Given the description of an element on the screen output the (x, y) to click on. 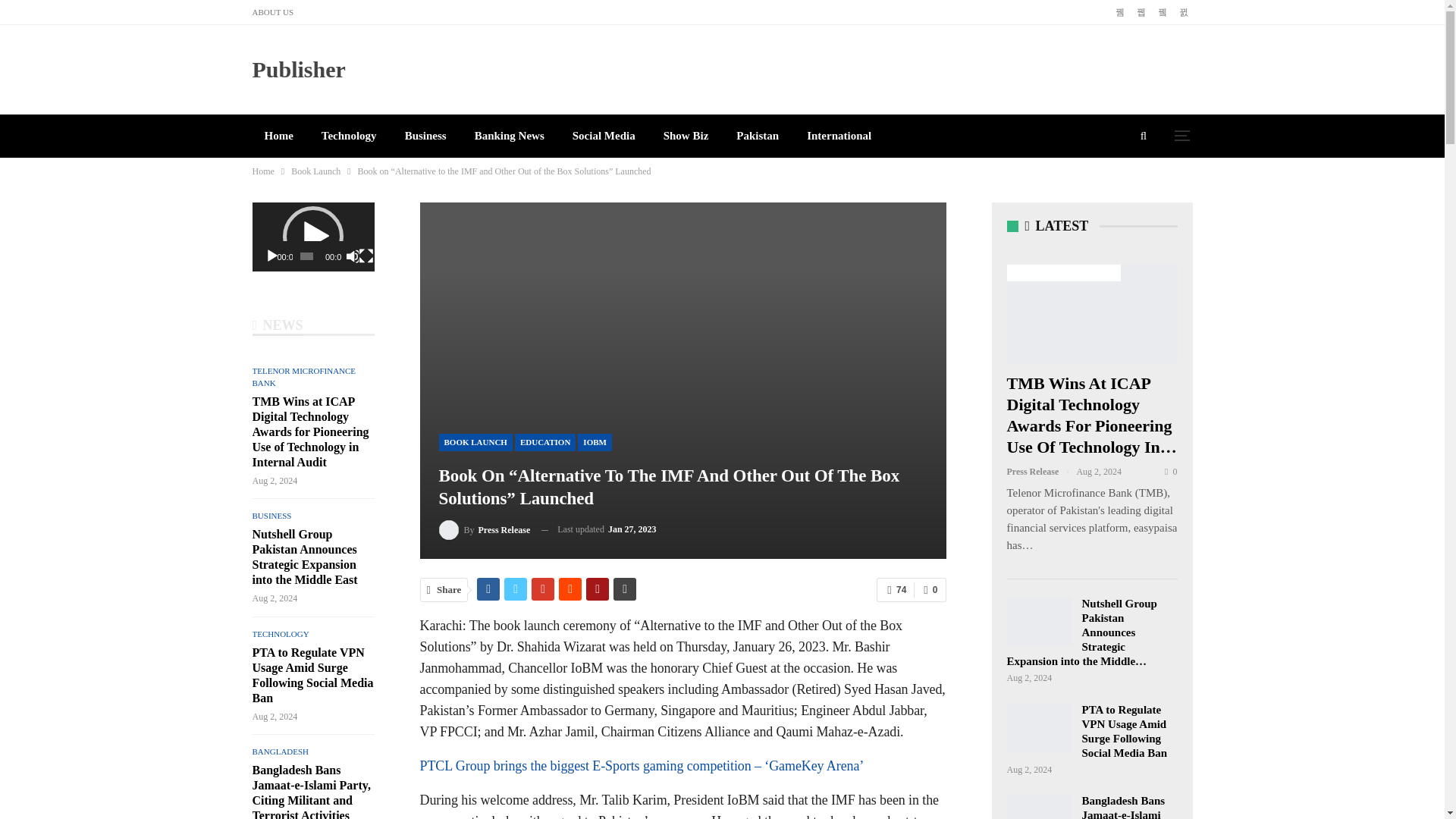
Pakistan (756, 136)
By Press Release (483, 529)
Social Media (603, 136)
EDUCATION (545, 442)
Banking News (509, 136)
Browse Author Articles (483, 529)
International (838, 136)
Publisher (298, 68)
IOBM (594, 442)
Show Biz (685, 136)
0 (929, 589)
Home (277, 136)
BOOK LAUNCH (475, 442)
ABOUT US (272, 11)
Home (262, 170)
